Given the description of an element on the screen output the (x, y) to click on. 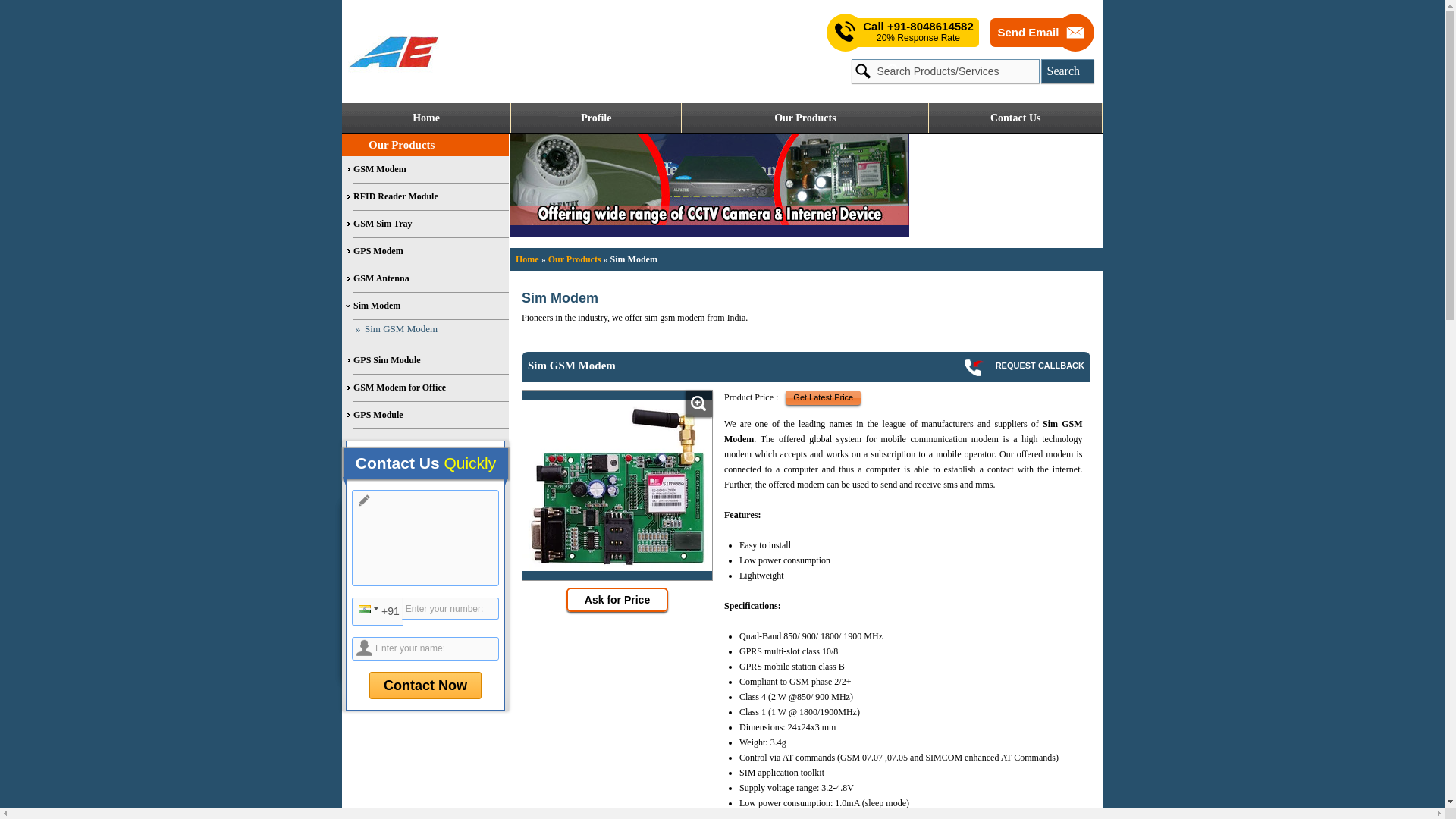
Sim GSM Modem (428, 330)
Send SMS Free (917, 32)
Profile (596, 118)
Our Products (574, 258)
GPS Modem (430, 251)
Enter your name: (425, 648)
Enter your number: (450, 608)
Contact Us (1015, 118)
RFID Reader Module (430, 196)
GSM Modem (430, 169)
